Given the description of an element on the screen output the (x, y) to click on. 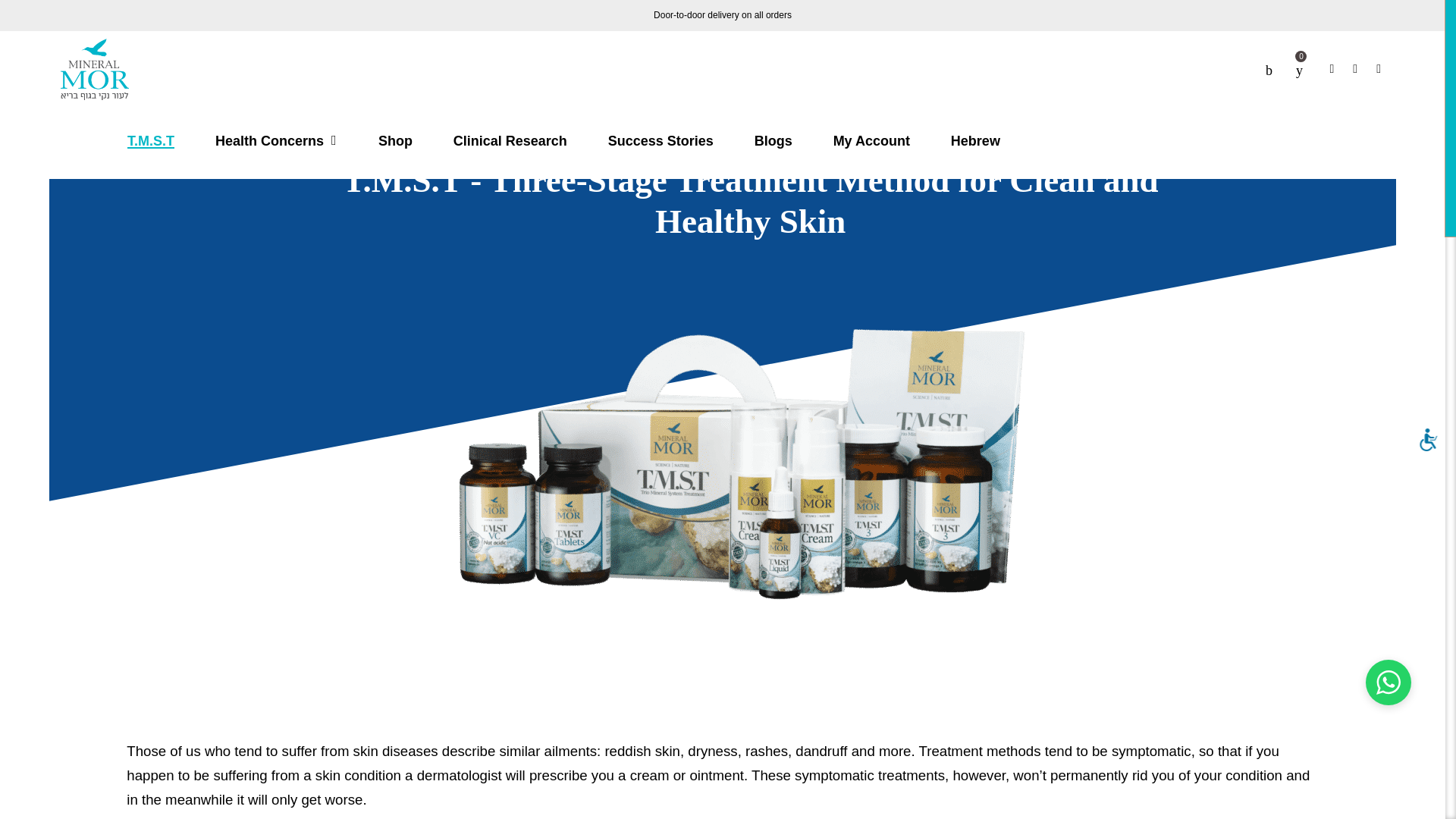
Success Stories (660, 141)
My Account (871, 141)
T.M.S.T (151, 141)
Shop (394, 141)
0 (1299, 69)
Clinical Research (510, 141)
Hebrew (975, 141)
Mineral Mor (95, 69)
Health Concerns (276, 141)
Blogs (772, 141)
